Given the description of an element on the screen output the (x, y) to click on. 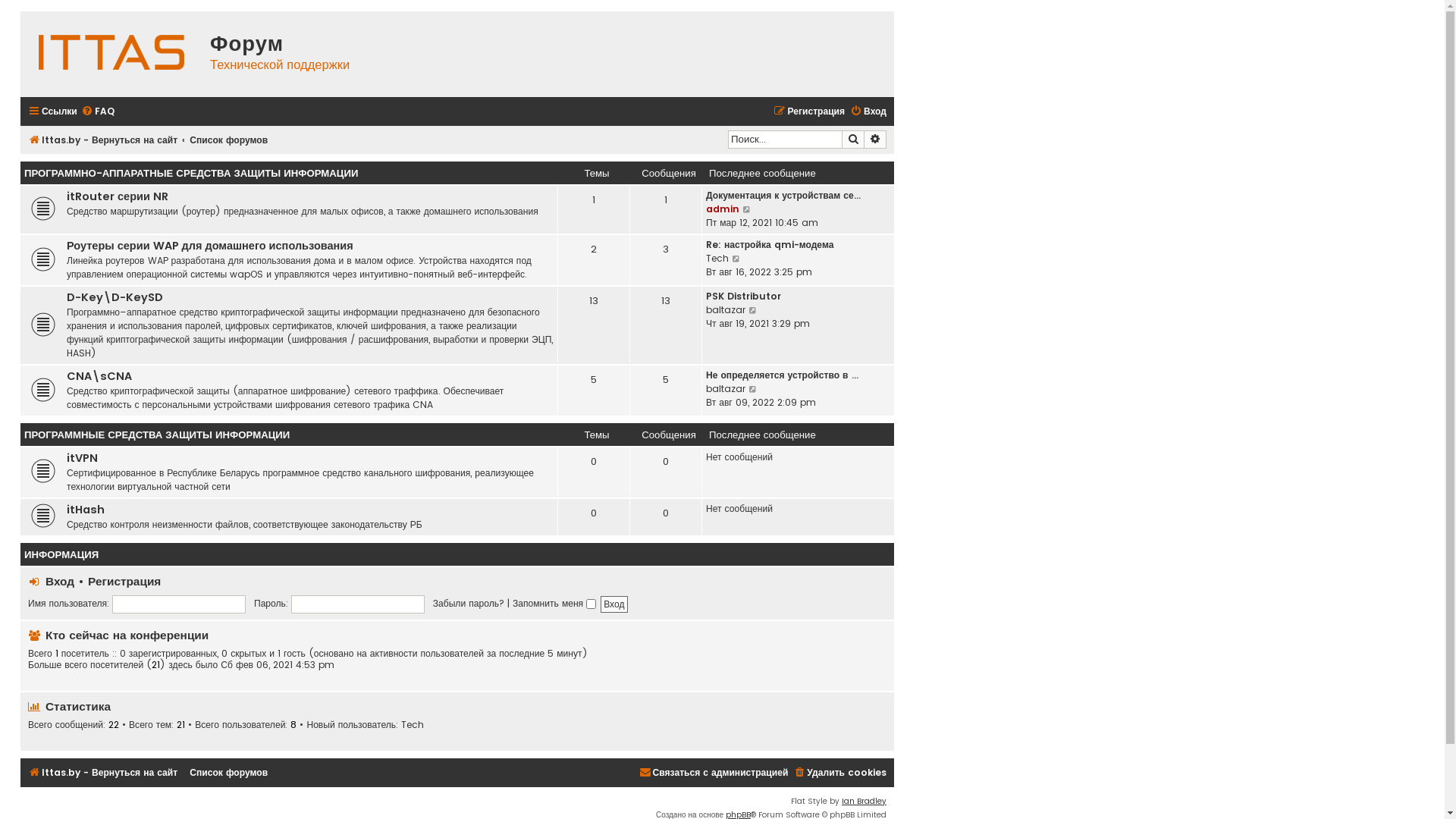
baltazar Element type: text (725, 388)
baltazar Element type: text (725, 309)
Tech Element type: text (412, 724)
PSK Distributor Element type: text (743, 296)
Tech Element type: text (717, 258)
itVPN Element type: text (81, 459)
CNA\sCNA Element type: text (98, 377)
Ian Bradley Element type: text (863, 801)
admin Element type: text (722, 208)
FAQ Element type: text (97, 111)
D-Key\D-KeySD Element type: text (114, 298)
itHash Element type: text (85, 511)
